Given the description of an element on the screen output the (x, y) to click on. 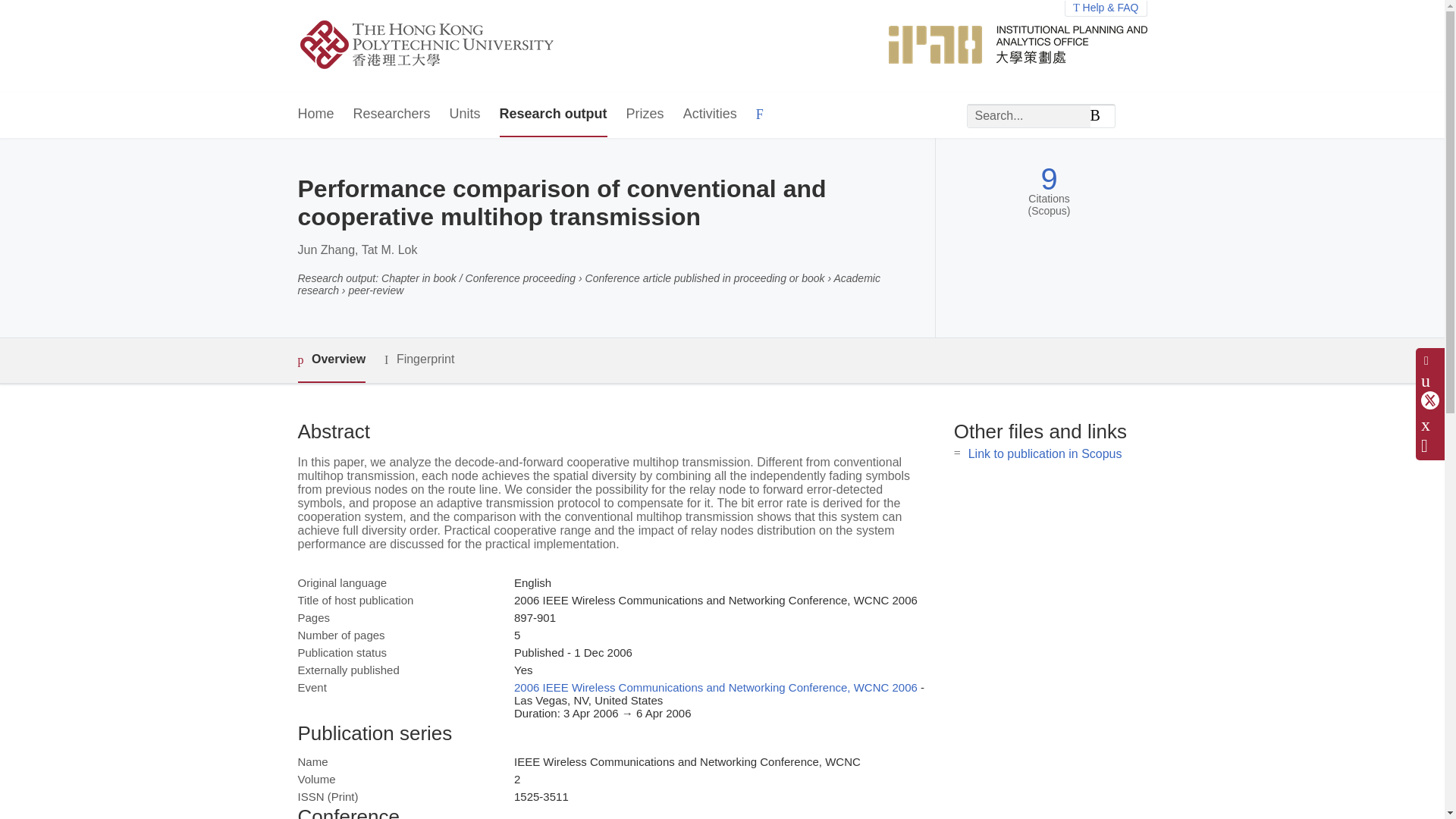
Link to publication in Scopus (1045, 453)
PolyU Scholars Hub Home (444, 46)
Overview (331, 360)
Research output (553, 114)
Activities (709, 114)
Fingerprint (419, 359)
Researchers (391, 114)
